Given the description of an element on the screen output the (x, y) to click on. 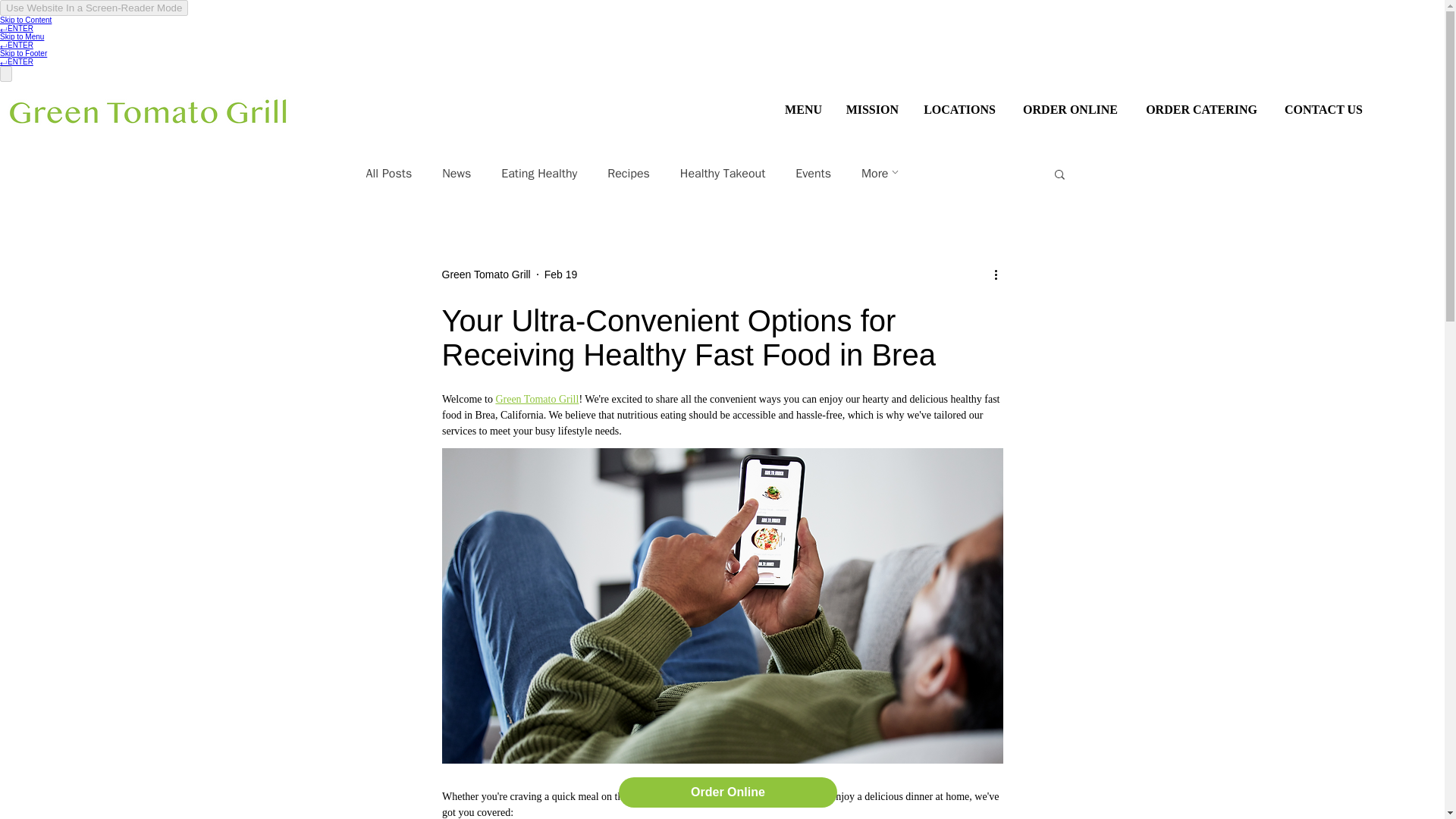
News (456, 172)
Feb 19 (561, 274)
Recipes (628, 172)
ORDER ONLINE (1068, 109)
LOCATIONS (958, 109)
CONTACT US (1321, 109)
Eating Healthy (538, 172)
MISSION (871, 109)
MENU (802, 109)
Events (812, 172)
Green Tomato Grill (536, 398)
Green tomato grill.png (149, 111)
ORDER CATERING (1198, 109)
Green Tomato Grill (485, 274)
Green Tomato Grill (485, 274)
